Given the description of an element on the screen output the (x, y) to click on. 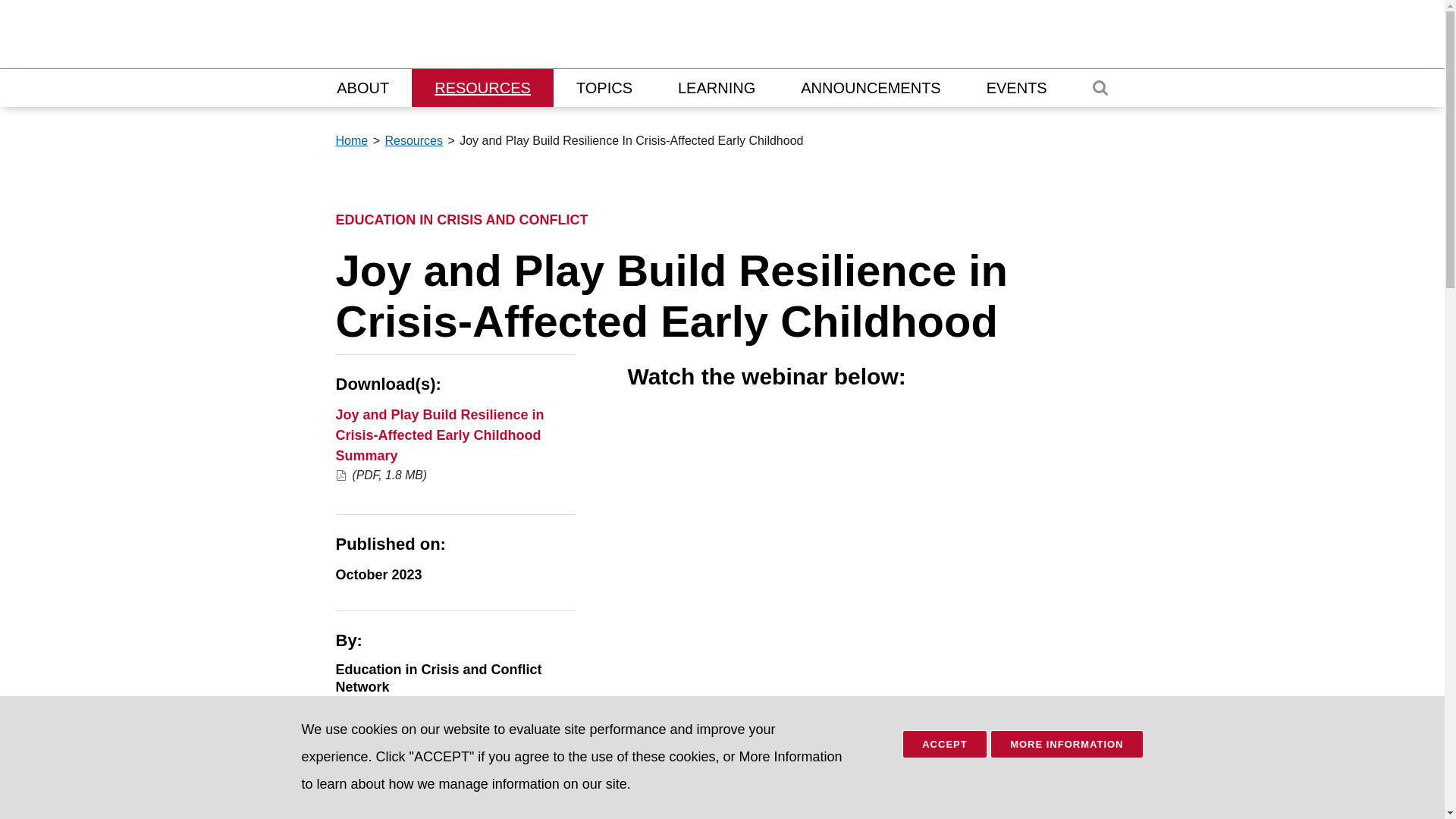
LEARNING (716, 87)
ABOUT (363, 87)
Home (351, 140)
RESOURCES (482, 87)
Submit Site Search (58, 9)
USAID (1187, 37)
USAID Contribution (387, 791)
ANNOUNCEMENTS (869, 87)
Resources (413, 140)
TOPICS (604, 87)
